Given the description of an element on the screen output the (x, y) to click on. 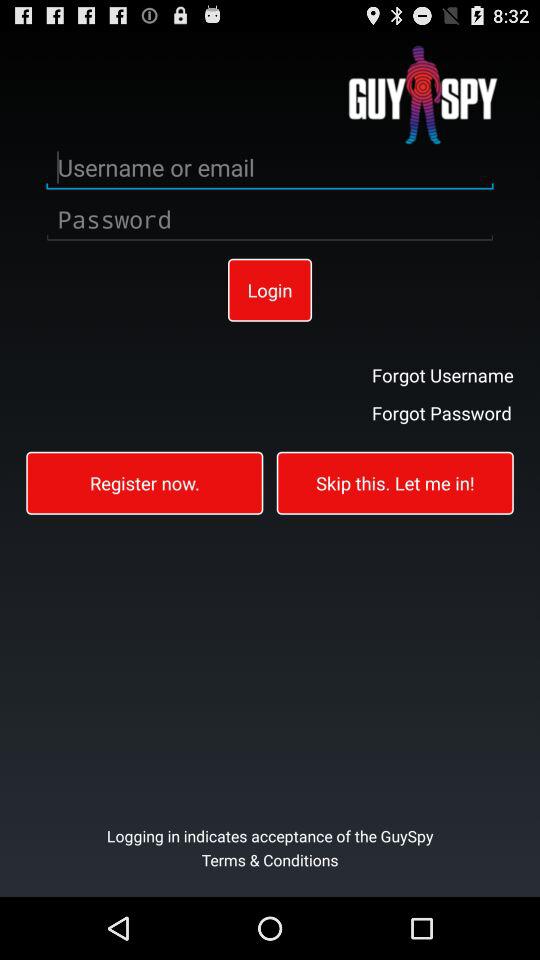
swipe to register now. (144, 482)
